Given the description of an element on the screen output the (x, y) to click on. 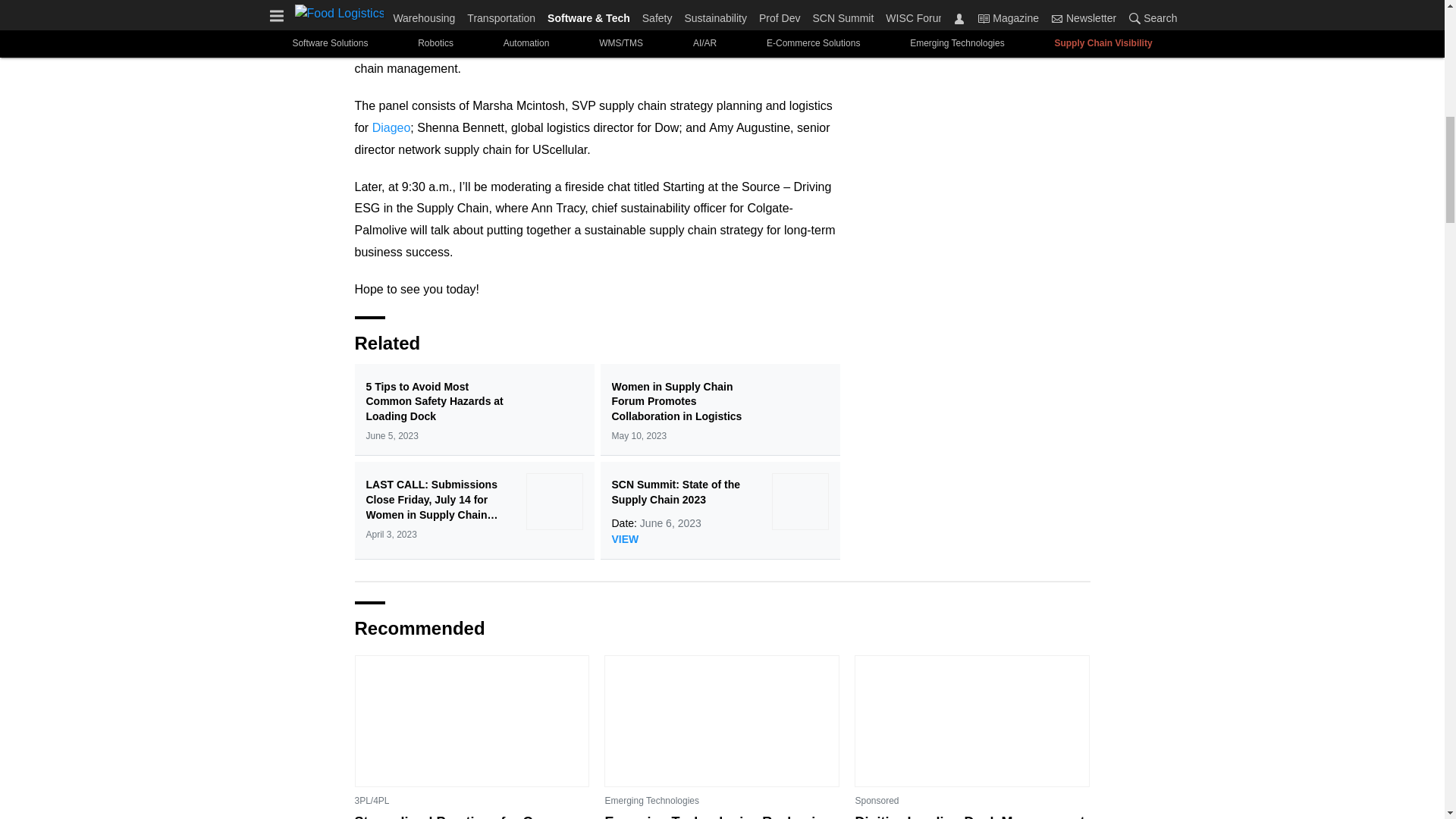
Sponsored (876, 800)
